Given the description of an element on the screen output the (x, y) to click on. 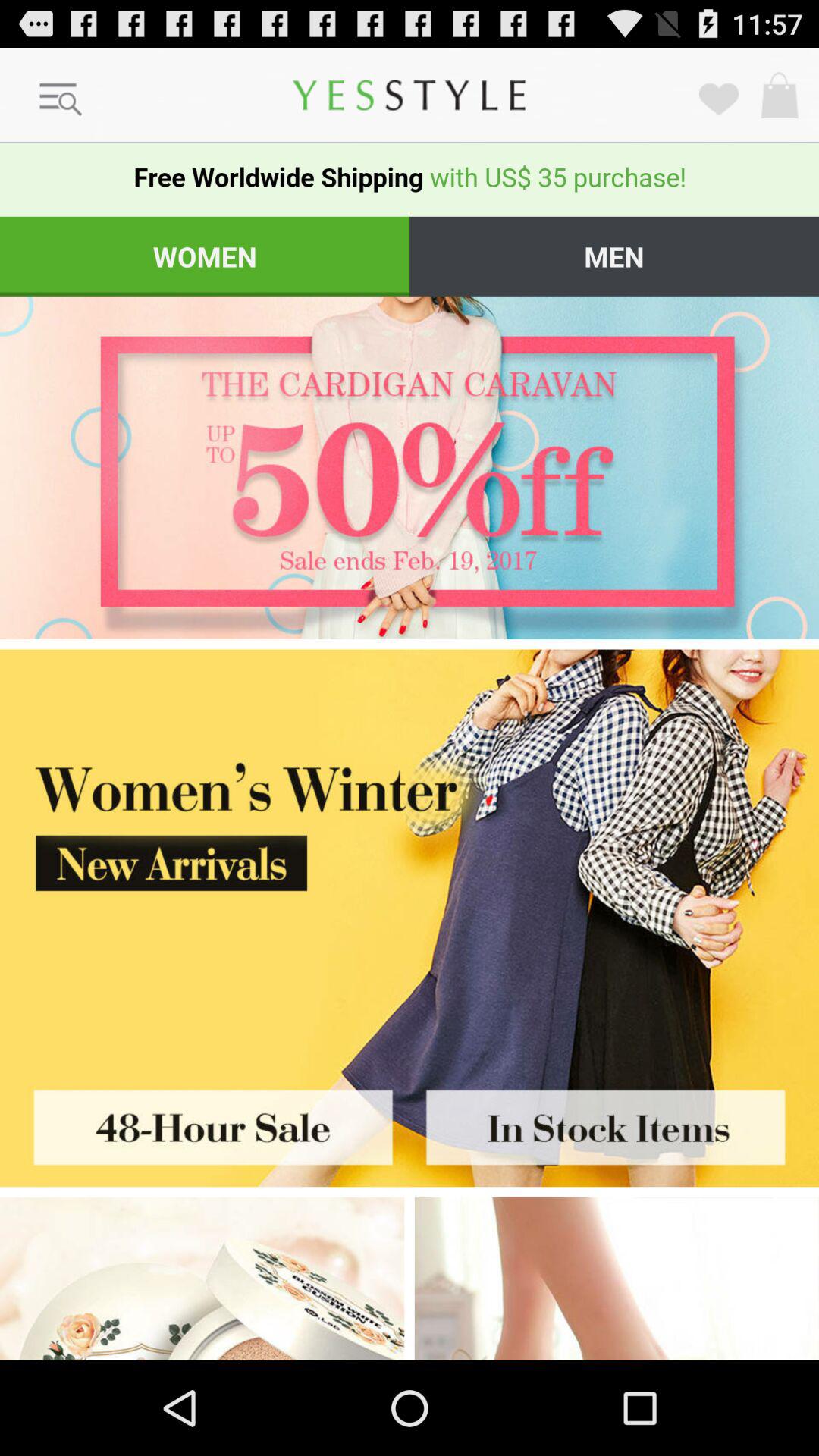
advertisement page (409, 854)
